Given the description of an element on the screen output the (x, y) to click on. 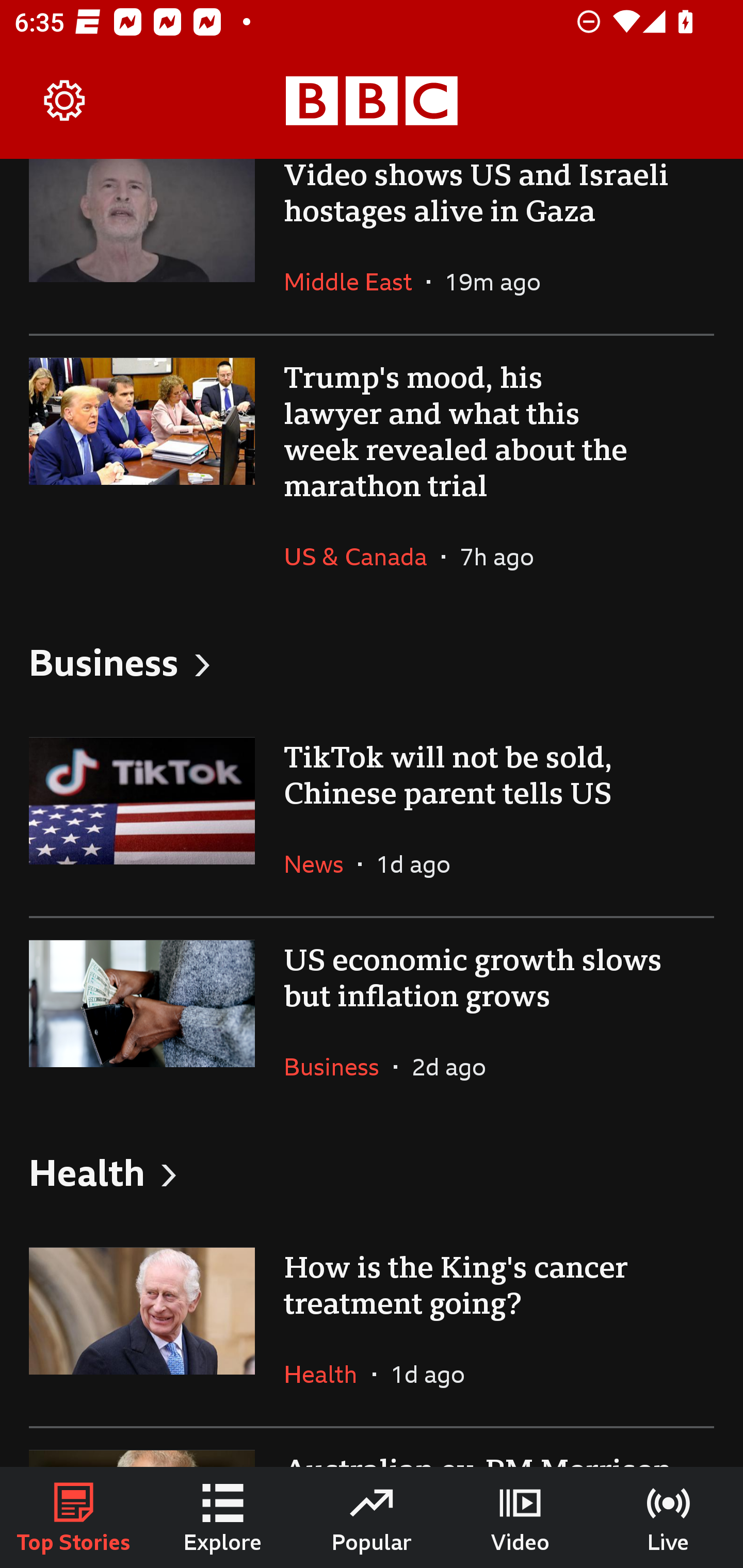
Settings (64, 100)
Middle East In the section Middle East (354, 280)
US & Canada In the section US & Canada (362, 556)
Business, Heading Business    (371, 661)
News In the section News (320, 863)
Business In the section Business (338, 1065)
Health, Heading Health    (371, 1171)
Health In the section Health (327, 1373)
Explore (222, 1517)
Popular (371, 1517)
Video (519, 1517)
Live (668, 1517)
